Given the description of an element on the screen output the (x, y) to click on. 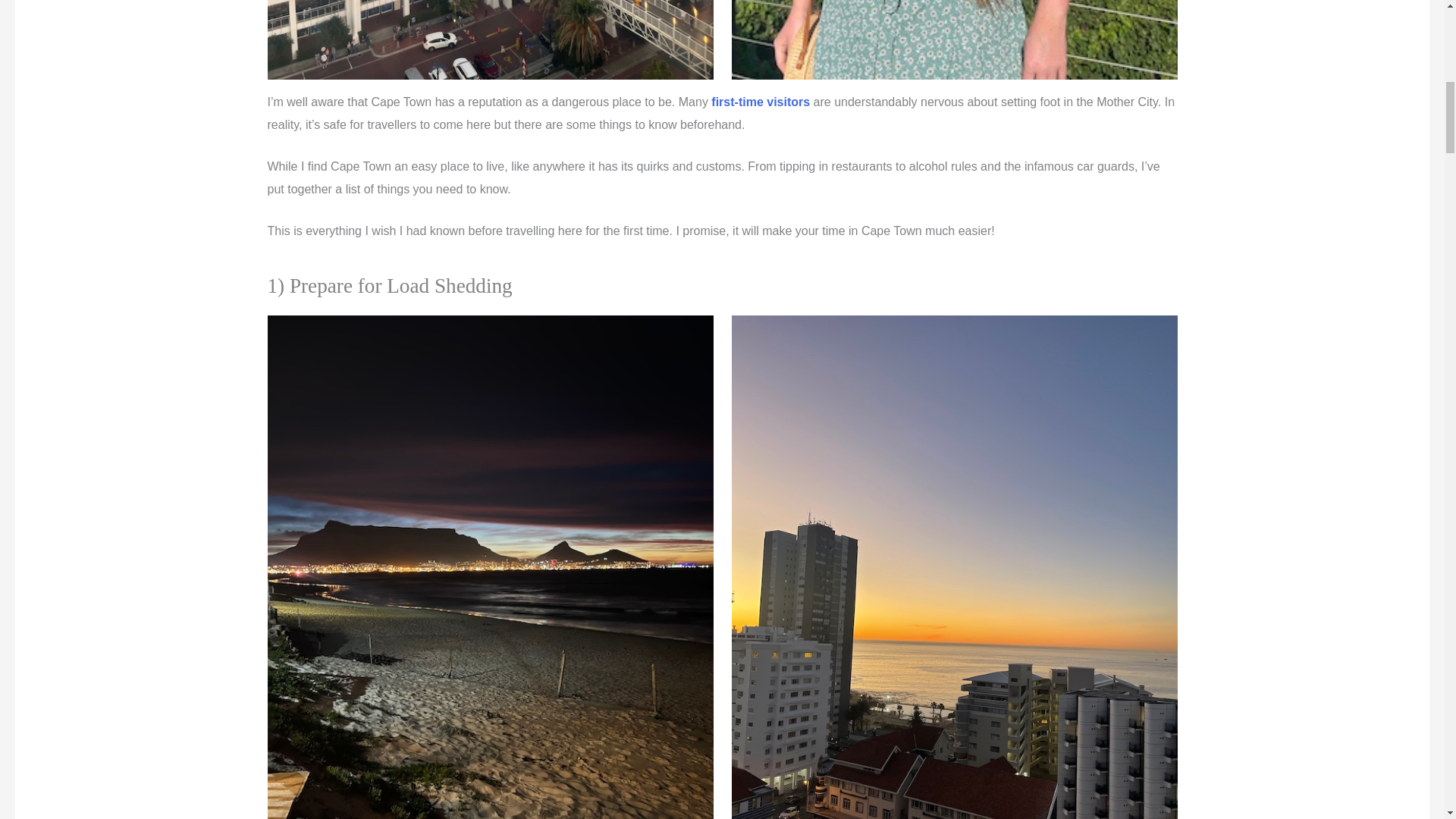
first-time visitors (758, 101)
